Given the description of an element on the screen output the (x, y) to click on. 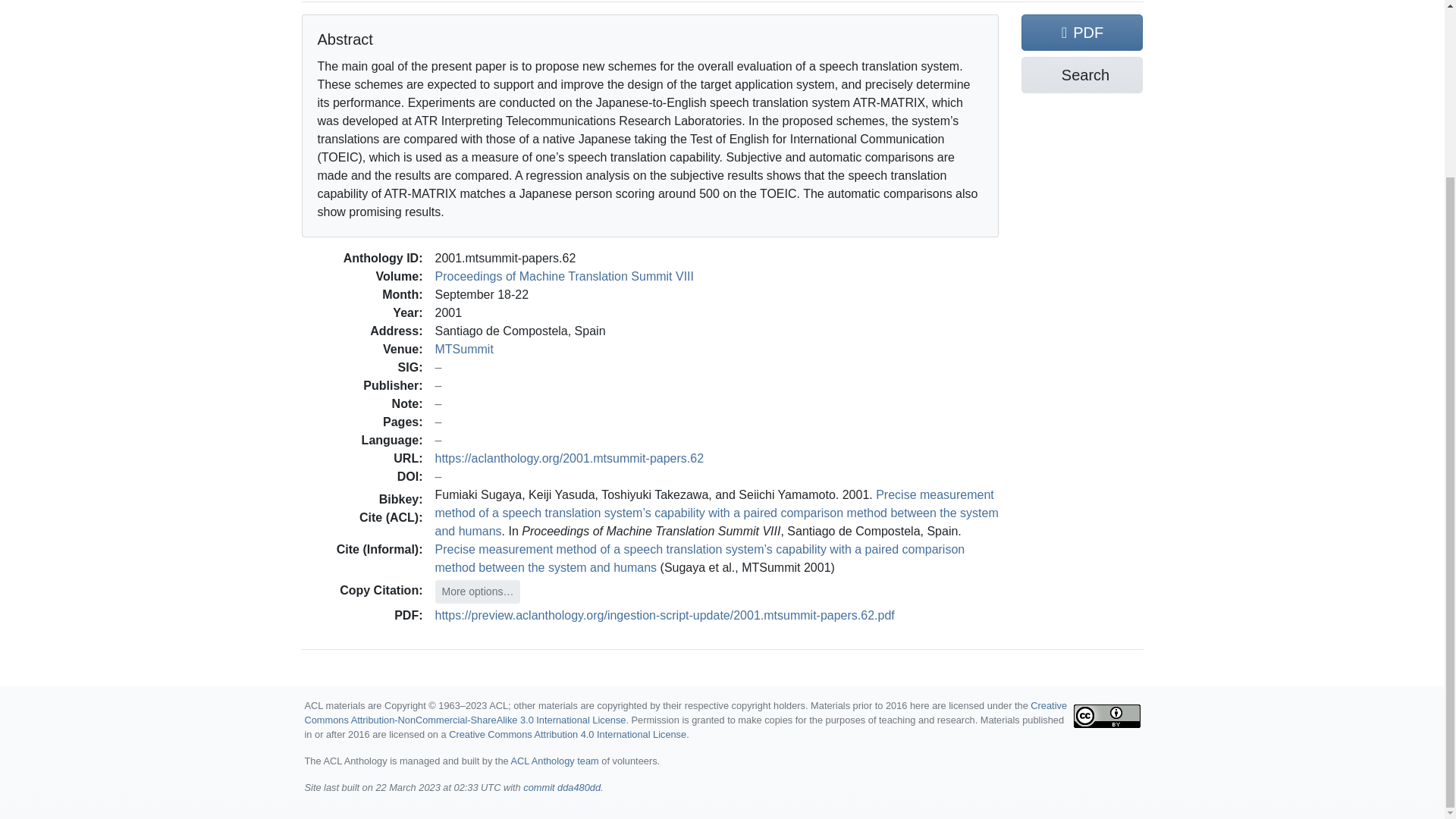
Creative Commons Attribution 4.0 International License (566, 734)
MTSummit (464, 348)
Proceedings of Machine Translation Summit VIII (564, 275)
commit dda480dd (560, 787)
PDF (1082, 32)
ACL Anthology team (554, 760)
Search (1082, 74)
